Given the description of an element on the screen output the (x, y) to click on. 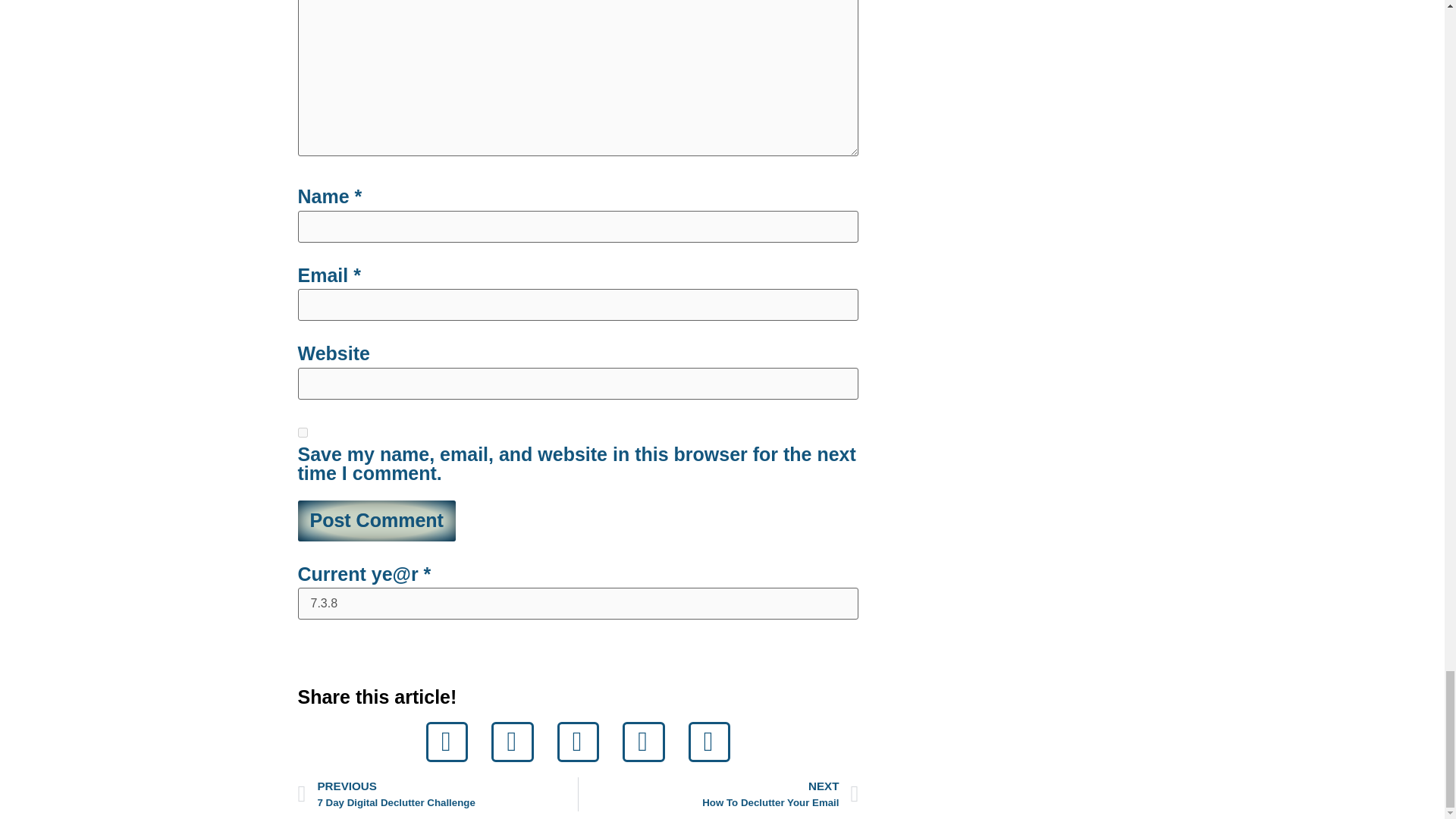
7.3.8 (578, 603)
Post Comment (375, 520)
yes (302, 432)
Post Comment (436, 794)
